Given the description of an element on the screen output the (x, y) to click on. 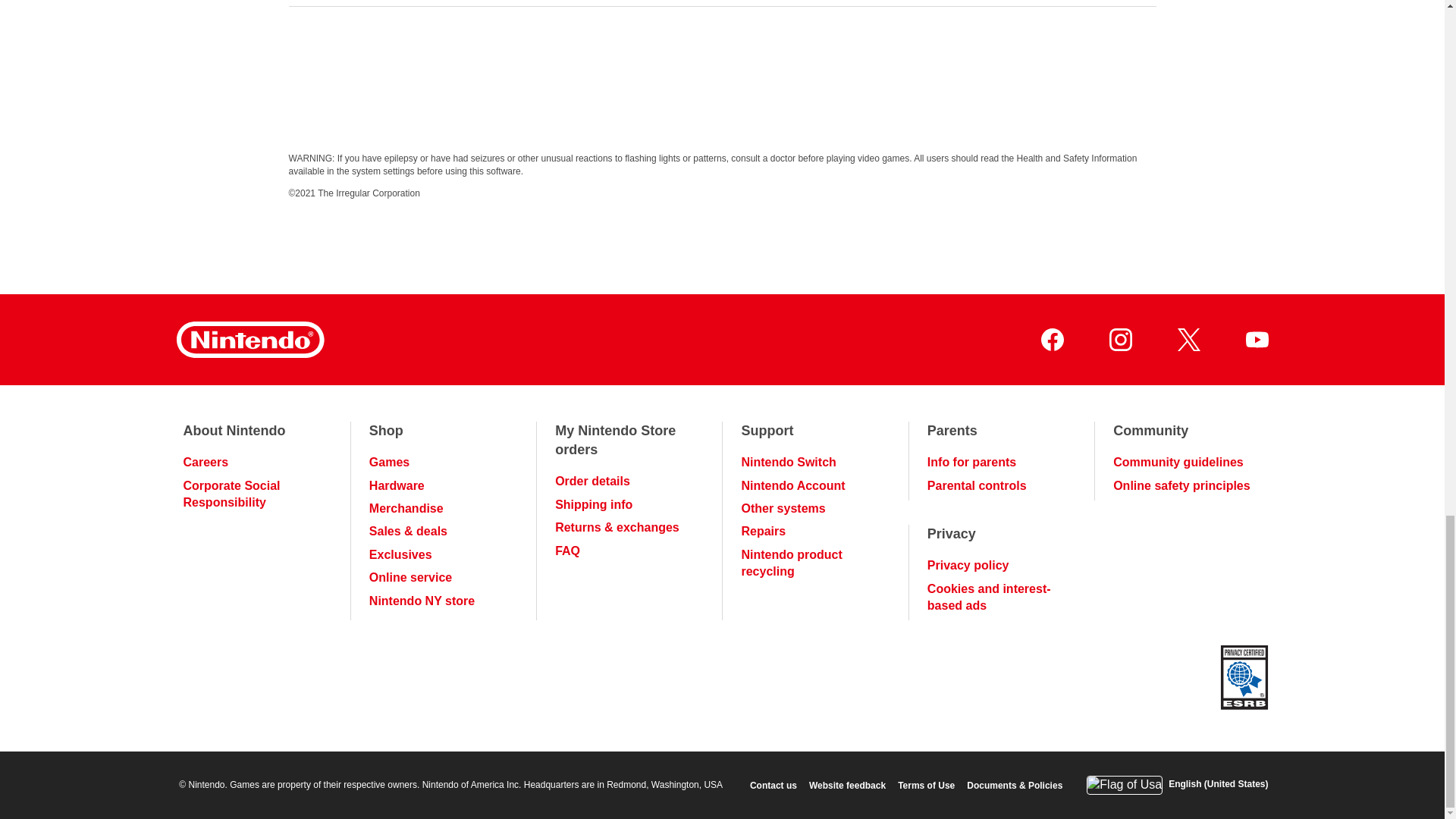
Nintendo on YouTube (1256, 339)
About Nintendo (234, 430)
Nintendo Homepage (249, 339)
Nintendo on Facebook (1051, 339)
Nintendo on Instagram (1119, 339)
Careers (205, 462)
Nintendo on Twitter (1187, 339)
